Given the description of an element on the screen output the (x, y) to click on. 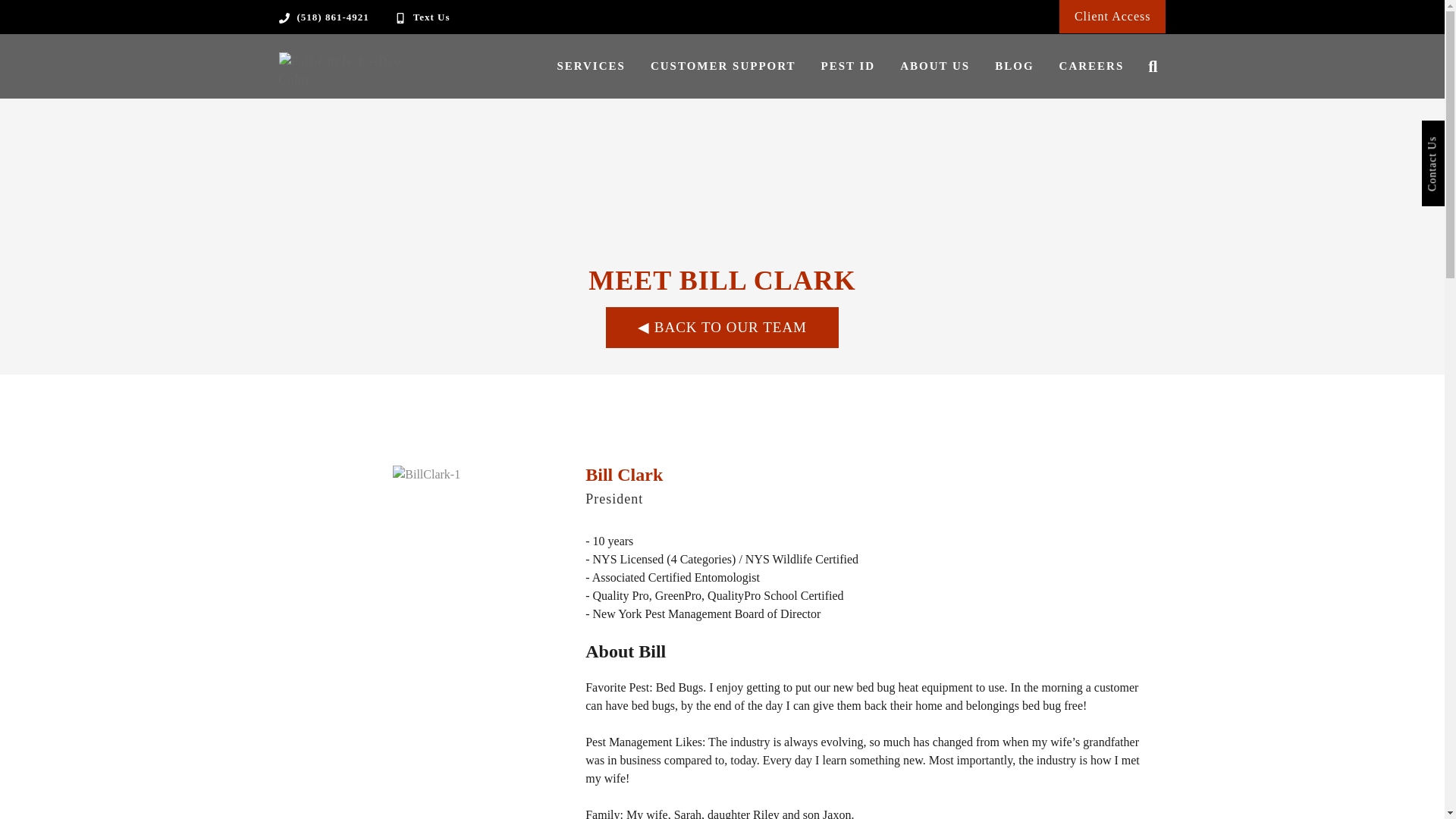
Client Access (1112, 15)
Full-Circle-1---Duo-Color (354, 70)
BillClark-1 (426, 475)
Text Us (431, 16)
